Given the description of an element on the screen output the (x, y) to click on. 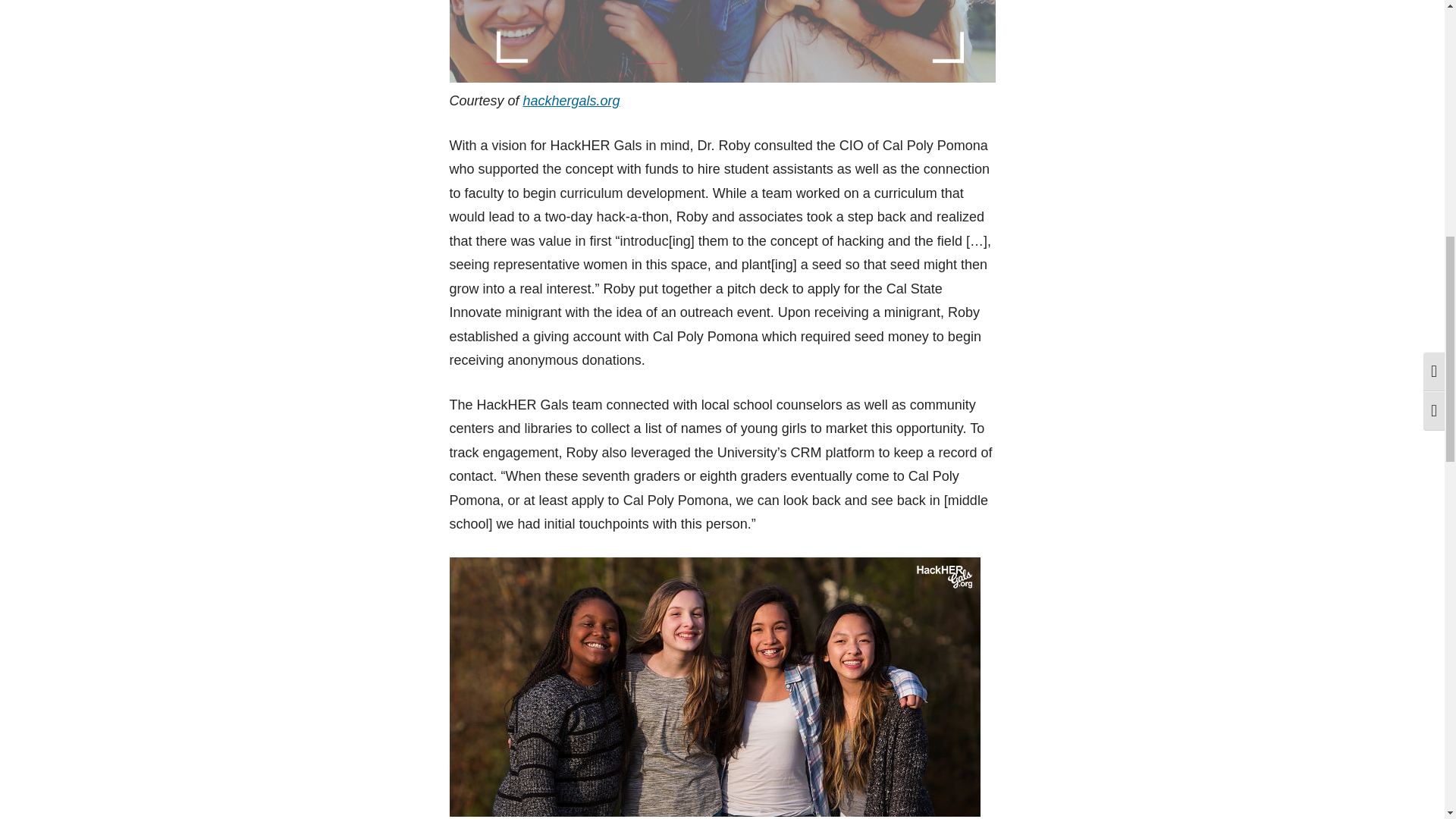
hackhergals.org (571, 100)
